Given the description of an element on the screen output the (x, y) to click on. 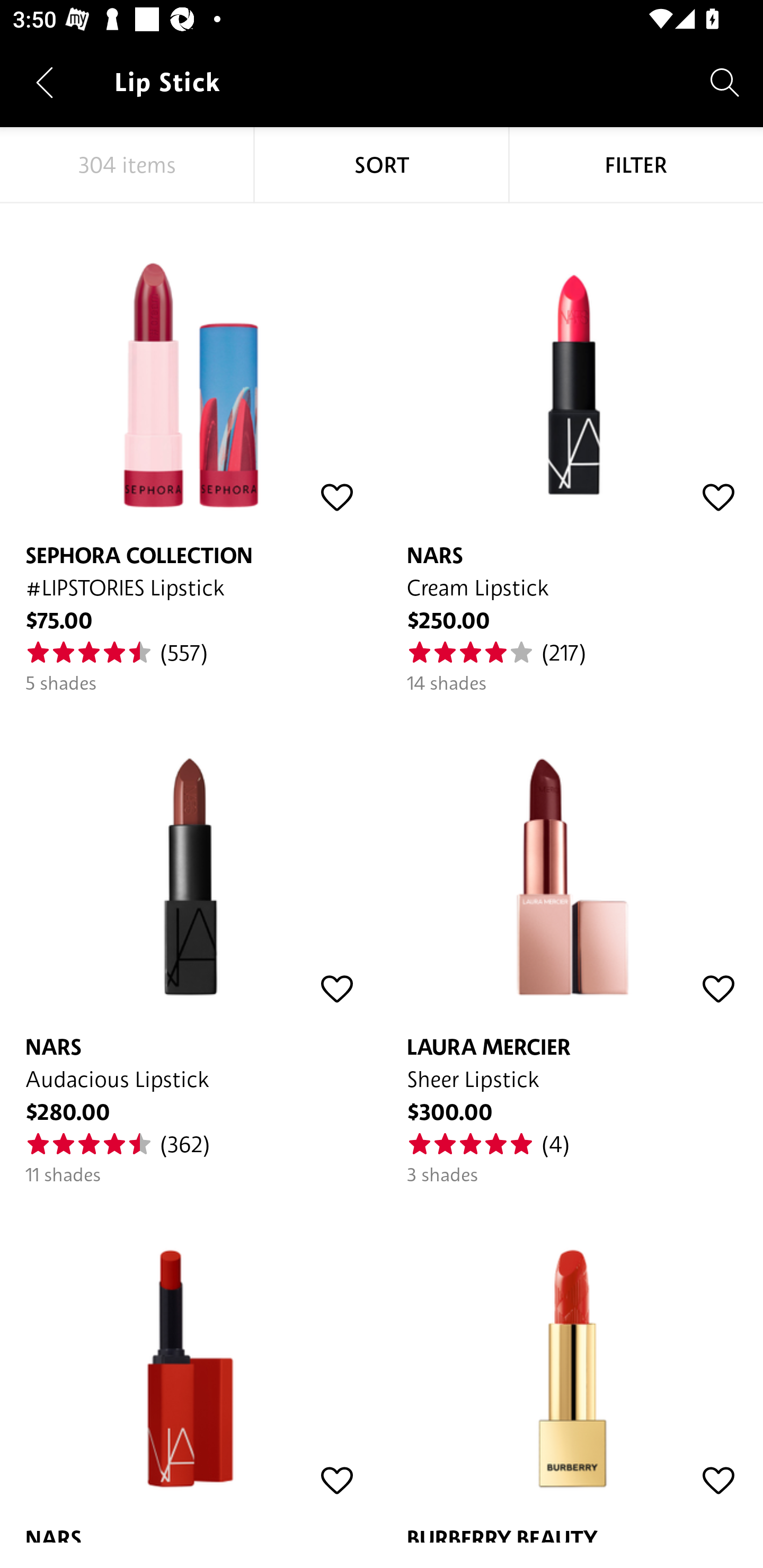
Navigate up (44, 82)
Search (724, 81)
SORT (381, 165)
FILTER (636, 165)
NARS Cream Lipstick $250.00 (217) 14 shades (571, 448)
NARS Audacious Lipstick $280.00 (362) 11 shades (190, 940)
LAURA MERCIER Sheer Lipstick $300.00 (4) 3 shades (571, 940)
NARS Powermatte Lipstick (190, 1364)
BURBERRY BEAUTY Kisses Lipstick (571, 1364)
